Given the description of an element on the screen output the (x, y) to click on. 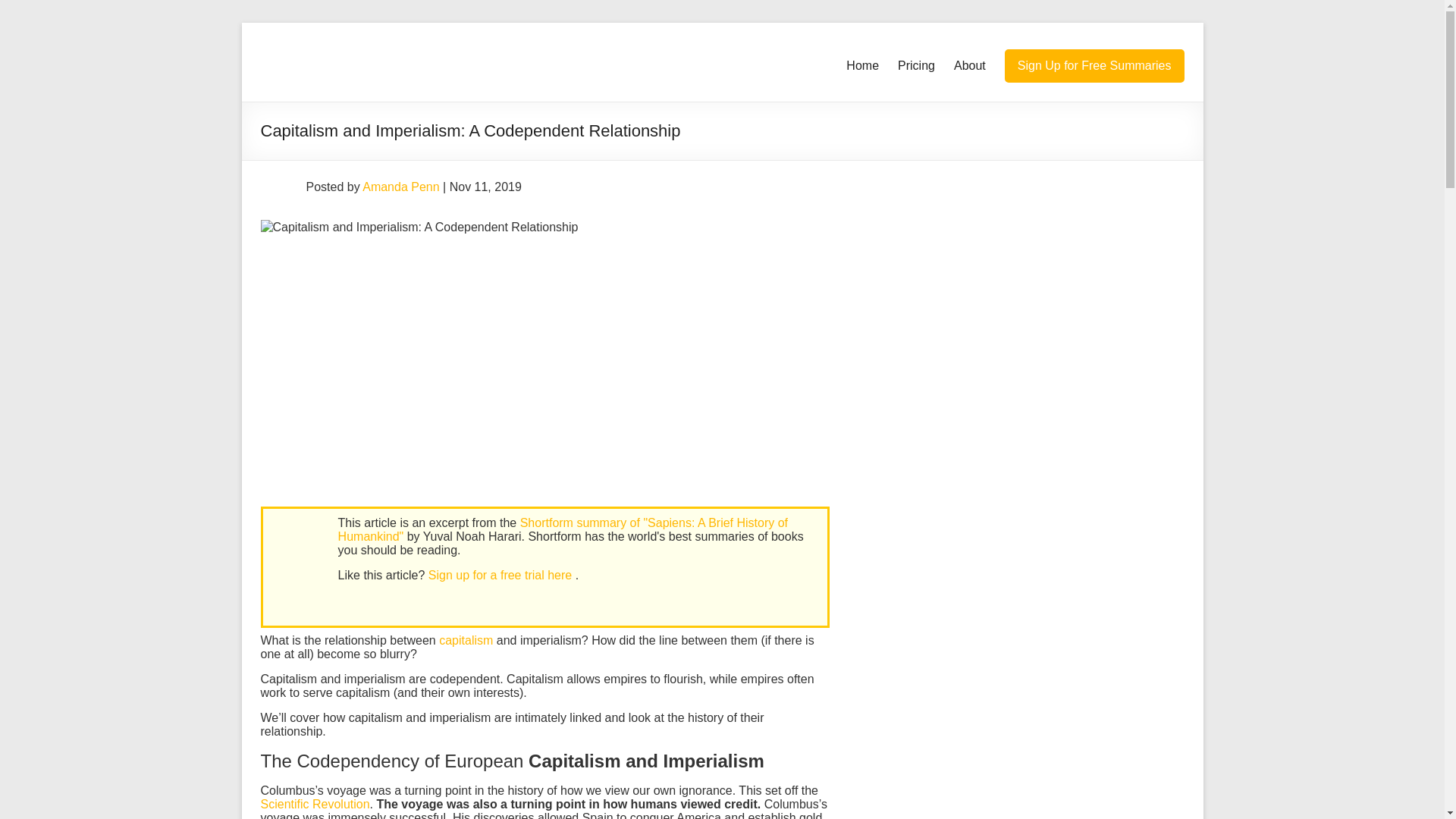
Scientific Revolution (314, 803)
Pricing (916, 65)
capitalism (466, 640)
About (969, 65)
Sign Up for Free Summaries (1094, 65)
Shortform summary of "Sapiens: A Brief History of Humankind" (562, 529)
Home (862, 65)
Amanda Penn (400, 186)
Sign up for a free trial here (501, 574)
